Given the description of an element on the screen output the (x, y) to click on. 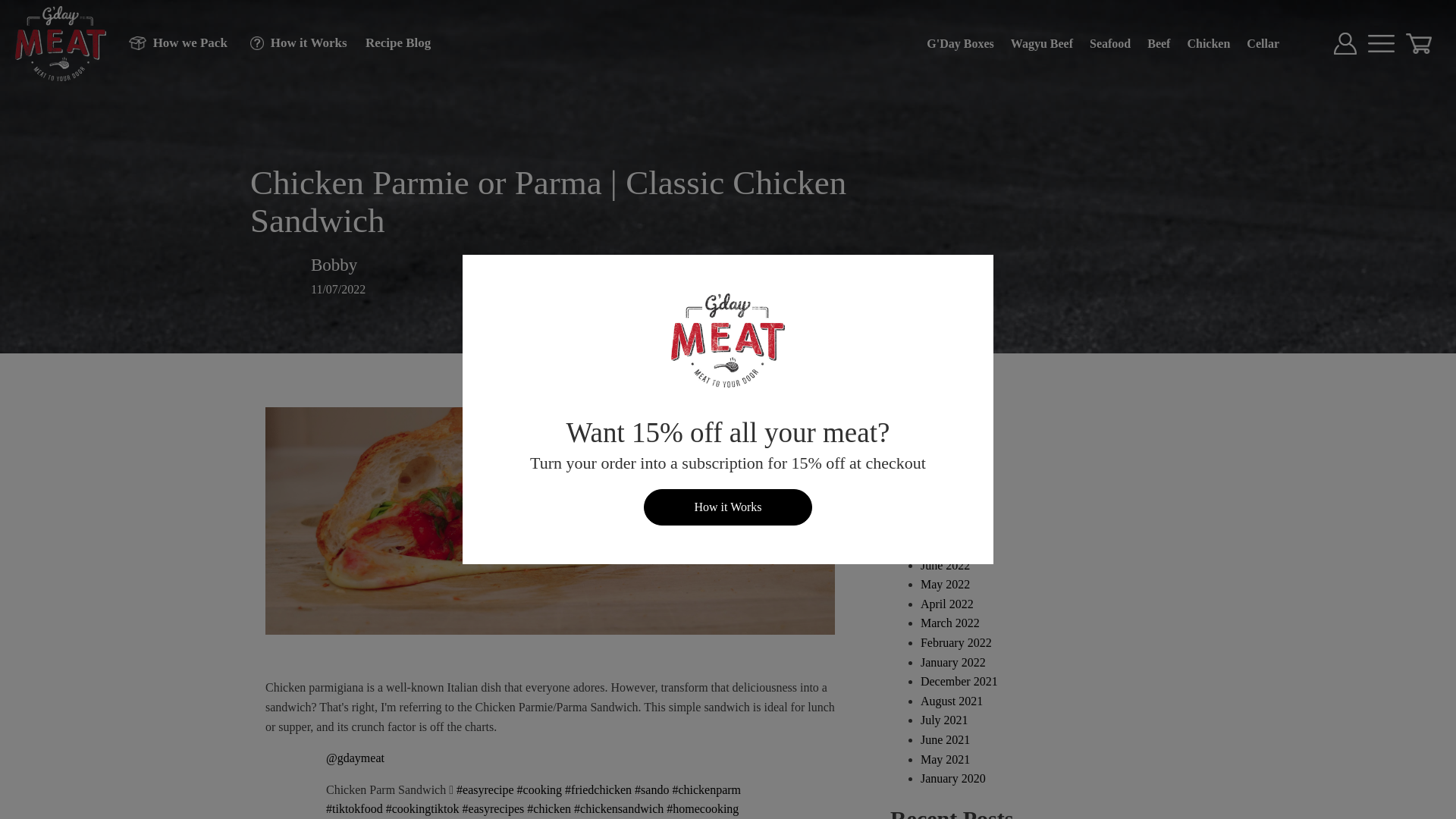
easyrecipe (485, 789)
Chicken (1208, 43)
easyrecipes (493, 808)
cookingtiktok (422, 808)
Seafood (1109, 43)
How we Pack (170, 43)
Recipe Blog (390, 43)
homecooking (702, 808)
G'Day Boxes (959, 43)
friedchicken (597, 789)
